Given the description of an element on the screen output the (x, y) to click on. 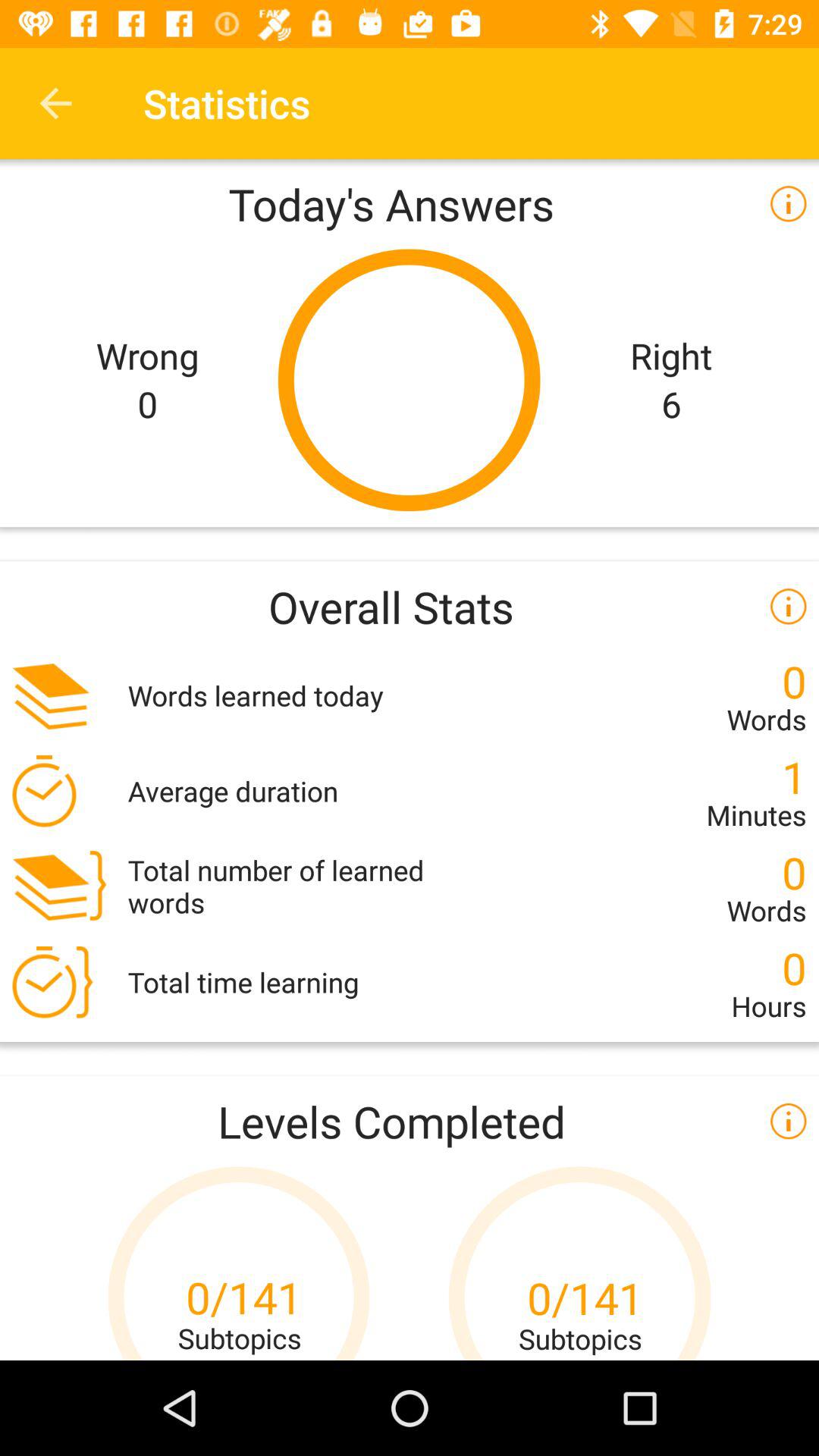
jump until the today's answers icon (409, 203)
